Given the description of an element on the screen output the (x, y) to click on. 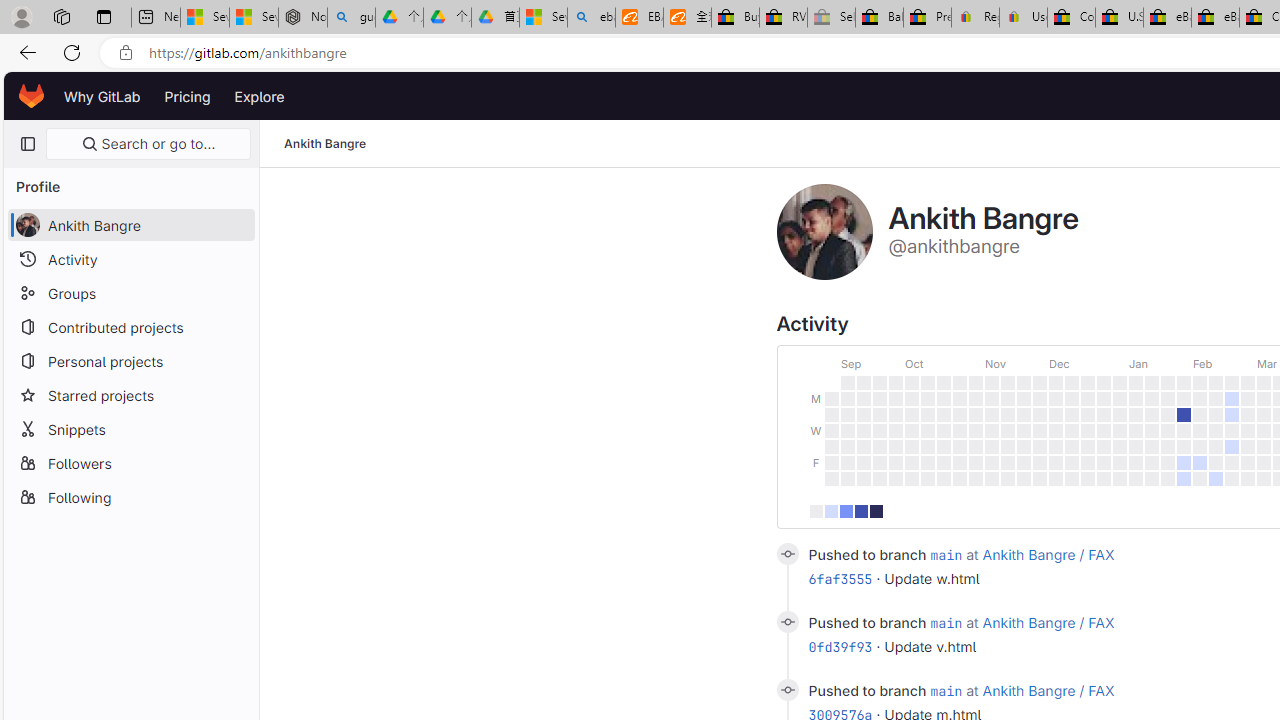
Personal projects (130, 360)
